Given the description of an element on the screen output the (x, y) to click on. 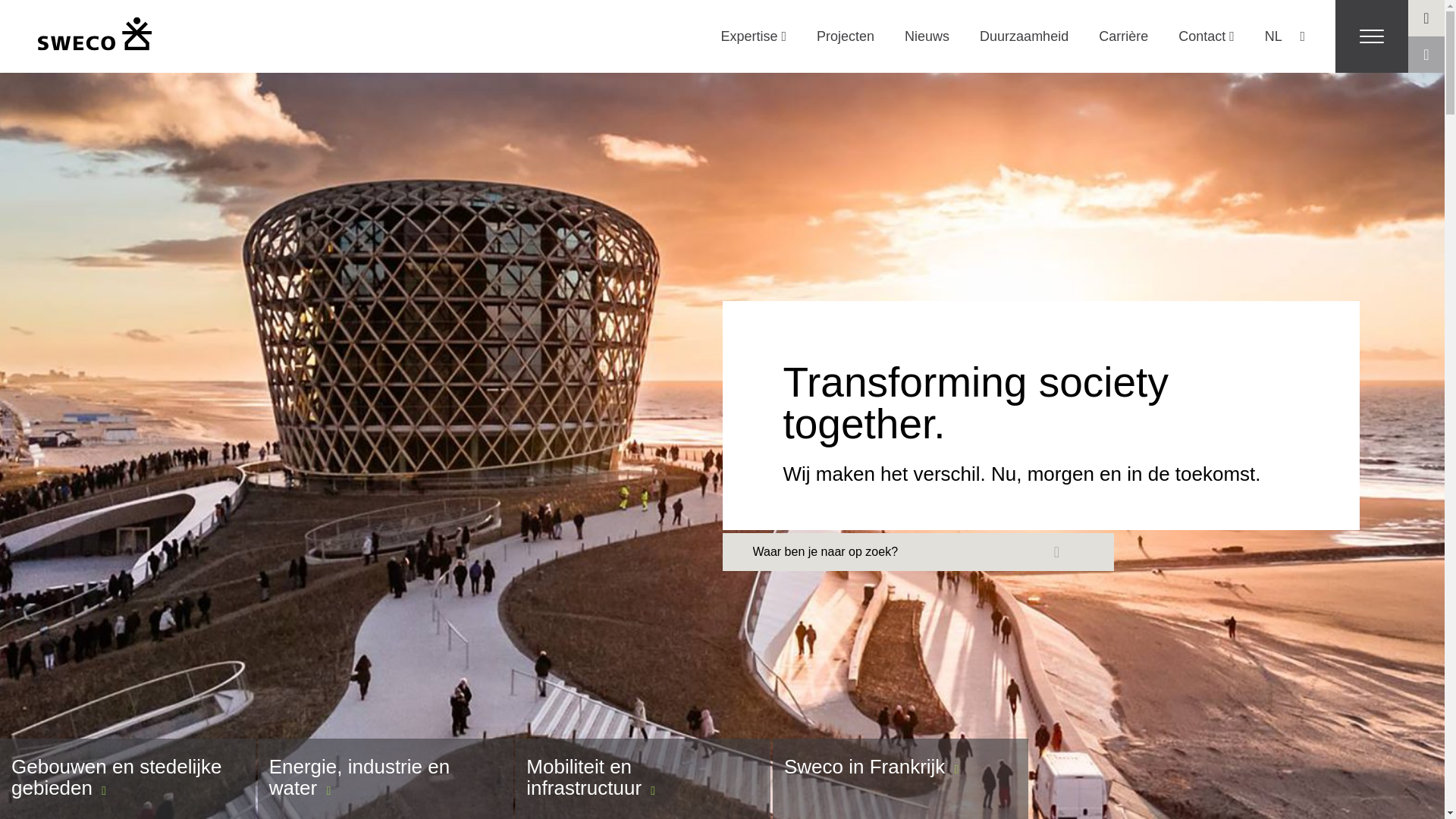
Nieuws (926, 36)
Projecten (845, 36)
Duurzaamheid (1023, 36)
Contact (1205, 36)
Expertise (753, 36)
NL (1280, 35)
